Given the description of an element on the screen output the (x, y) to click on. 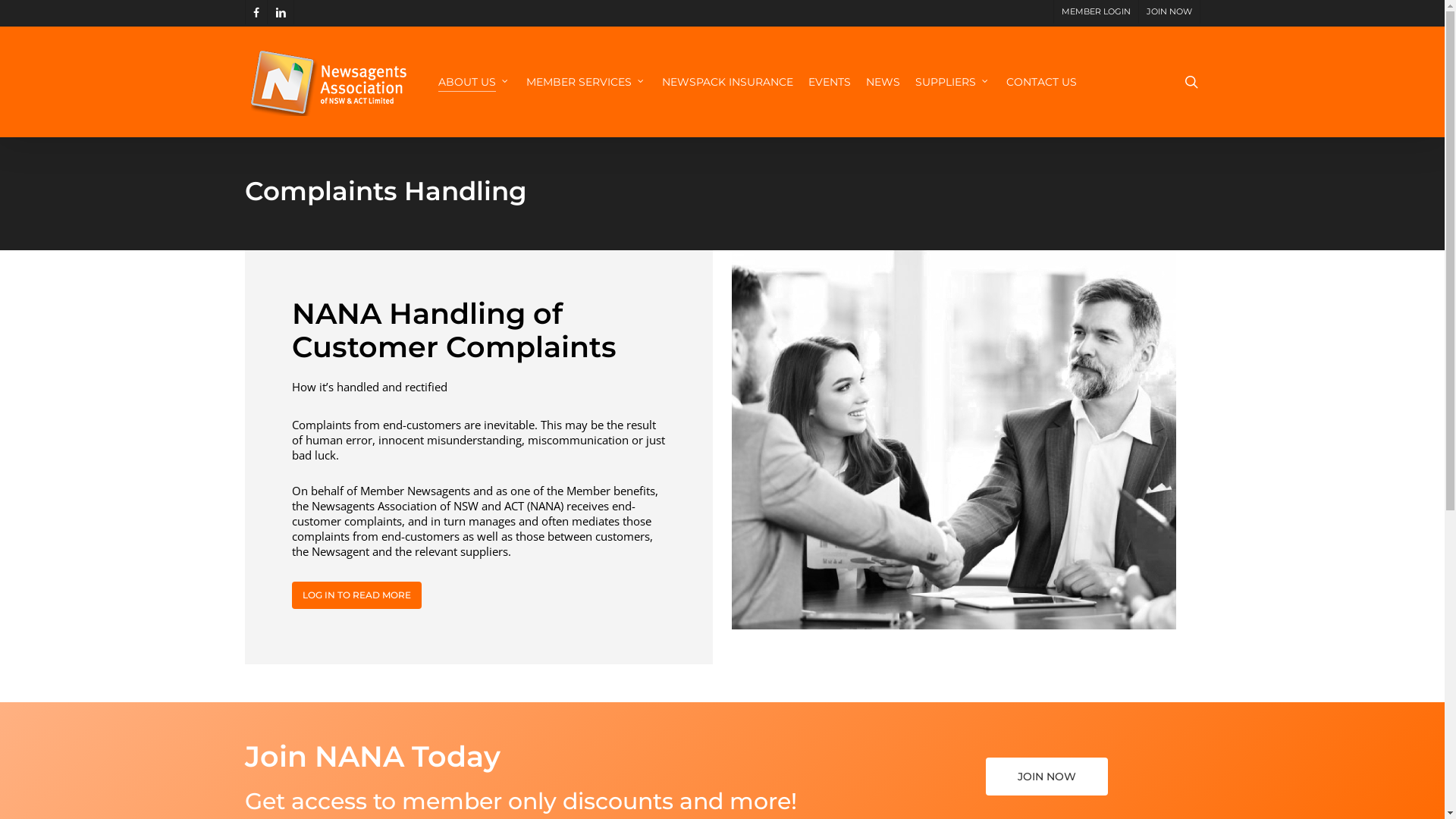
SUPPLIERS Element type: text (952, 81)
NEWSPACK INSURANCE Element type: text (726, 81)
FACEBOOK Element type: text (255, 12)
LOG IN TO READ MORE Element type: text (356, 594)
JOIN NOW Element type: text (1046, 775)
MEMBER LOGIN Element type: text (1094, 11)
LINKEDIN Element type: text (279, 12)
NEWS Element type: text (883, 81)
search Element type: text (1190, 81)
ABOUT US Element type: text (474, 81)
CONTACT US Element type: text (1040, 81)
JOIN NOW Element type: text (1167, 11)
MEMBER SERVICES Element type: text (586, 81)
EVENTS Element type: text (829, 81)
